Given the description of an element on the screen output the (x, y) to click on. 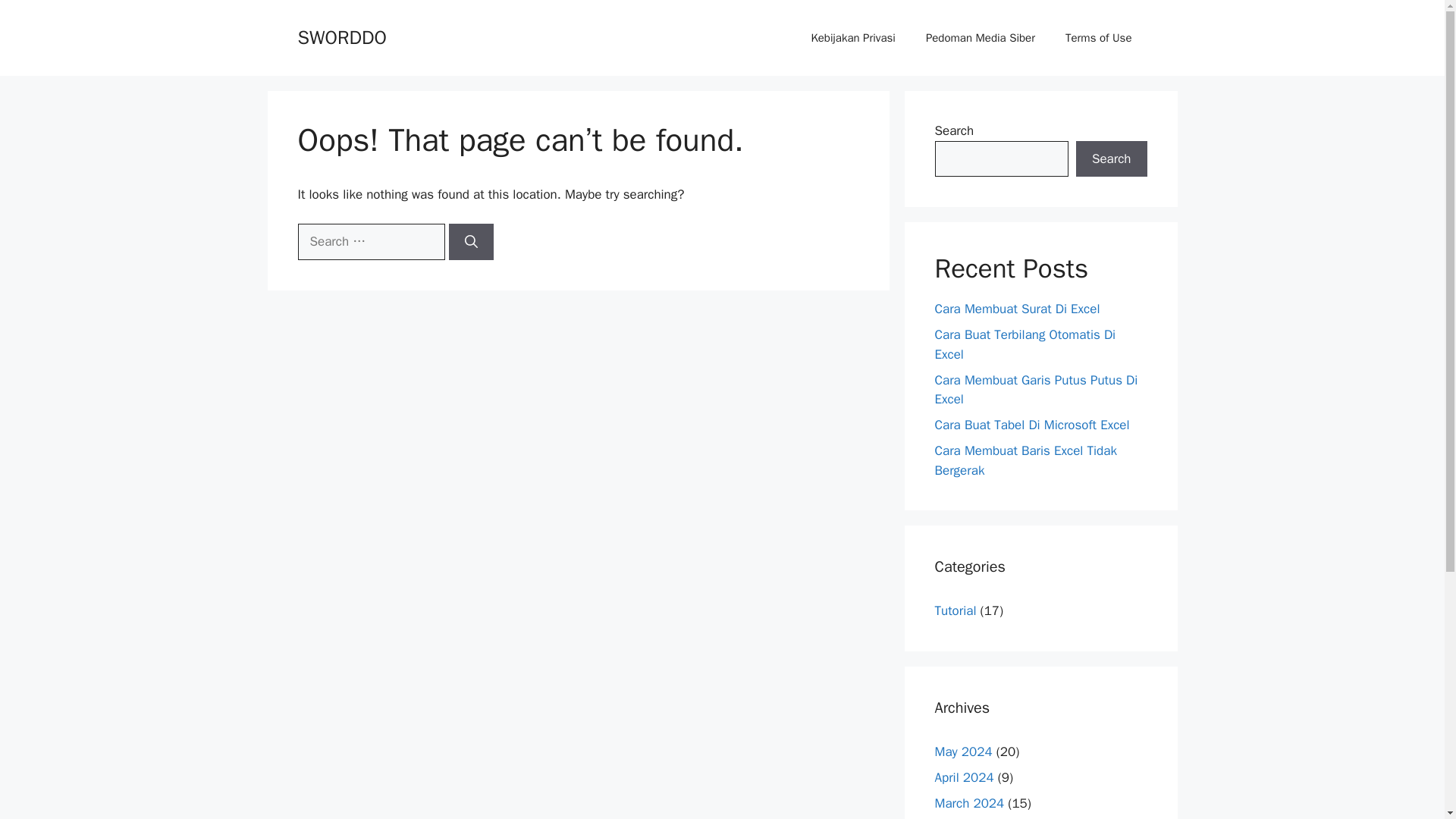
May 2024 (962, 750)
Terms of Use (1098, 37)
SWORDDO (341, 37)
Kebijakan Privasi (852, 37)
Cara Membuat Baris Excel Tidak Bergerak (1025, 460)
Cara Membuat Garis Putus Putus Di Excel (1035, 389)
Pedoman Media Siber (980, 37)
Tutorial (954, 610)
March 2024 (969, 802)
April 2024 (963, 776)
Cara Buat Terbilang Otomatis Di Excel (1024, 344)
Cara Buat Tabel Di Microsoft Excel (1031, 424)
Search (1111, 158)
Search for: (370, 241)
Cara Membuat Surat Di Excel (1016, 308)
